Given the description of an element on the screen output the (x, y) to click on. 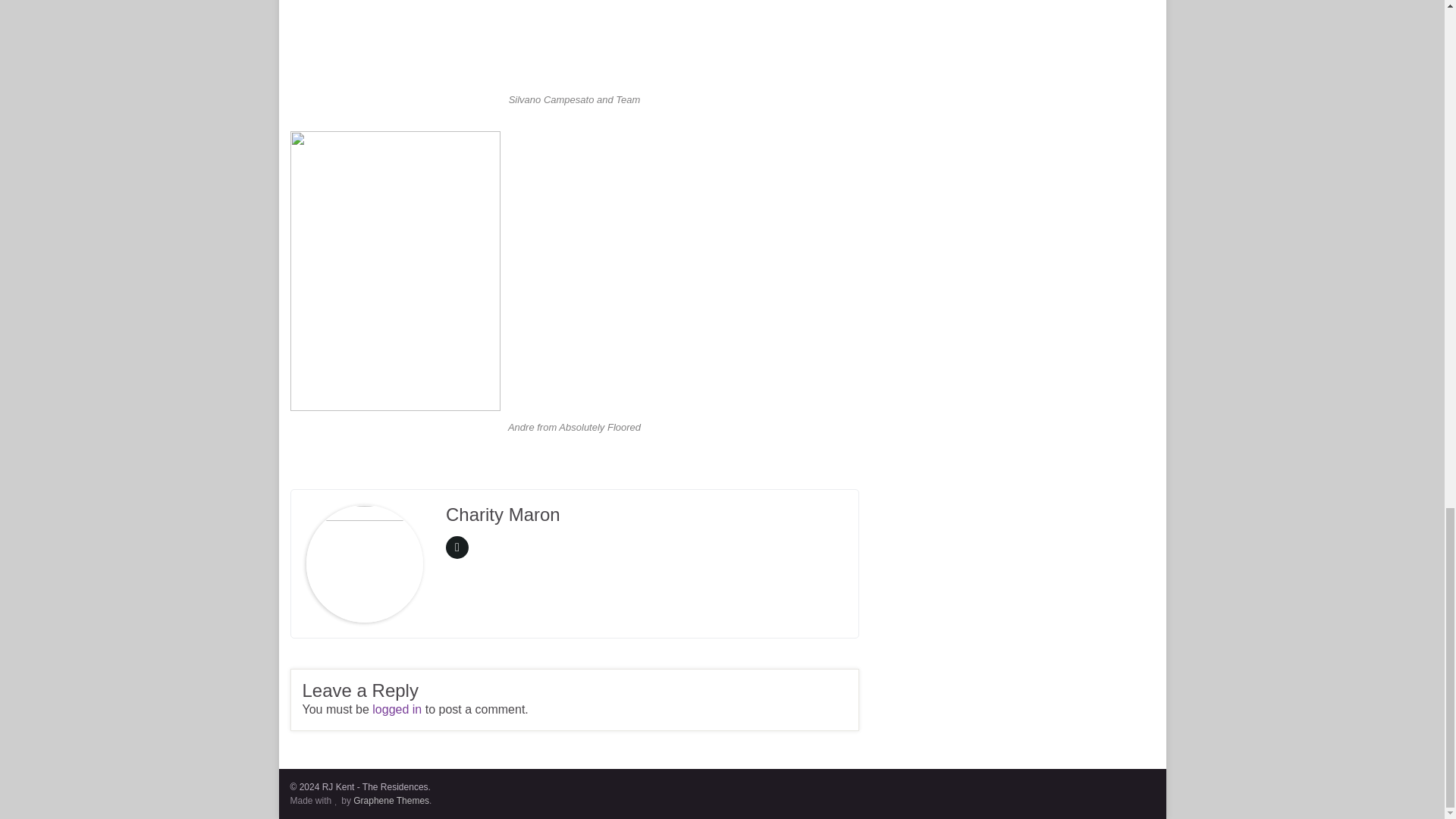
logged in (397, 708)
Graphene Themes (391, 800)
